Given the description of an element on the screen output the (x, y) to click on. 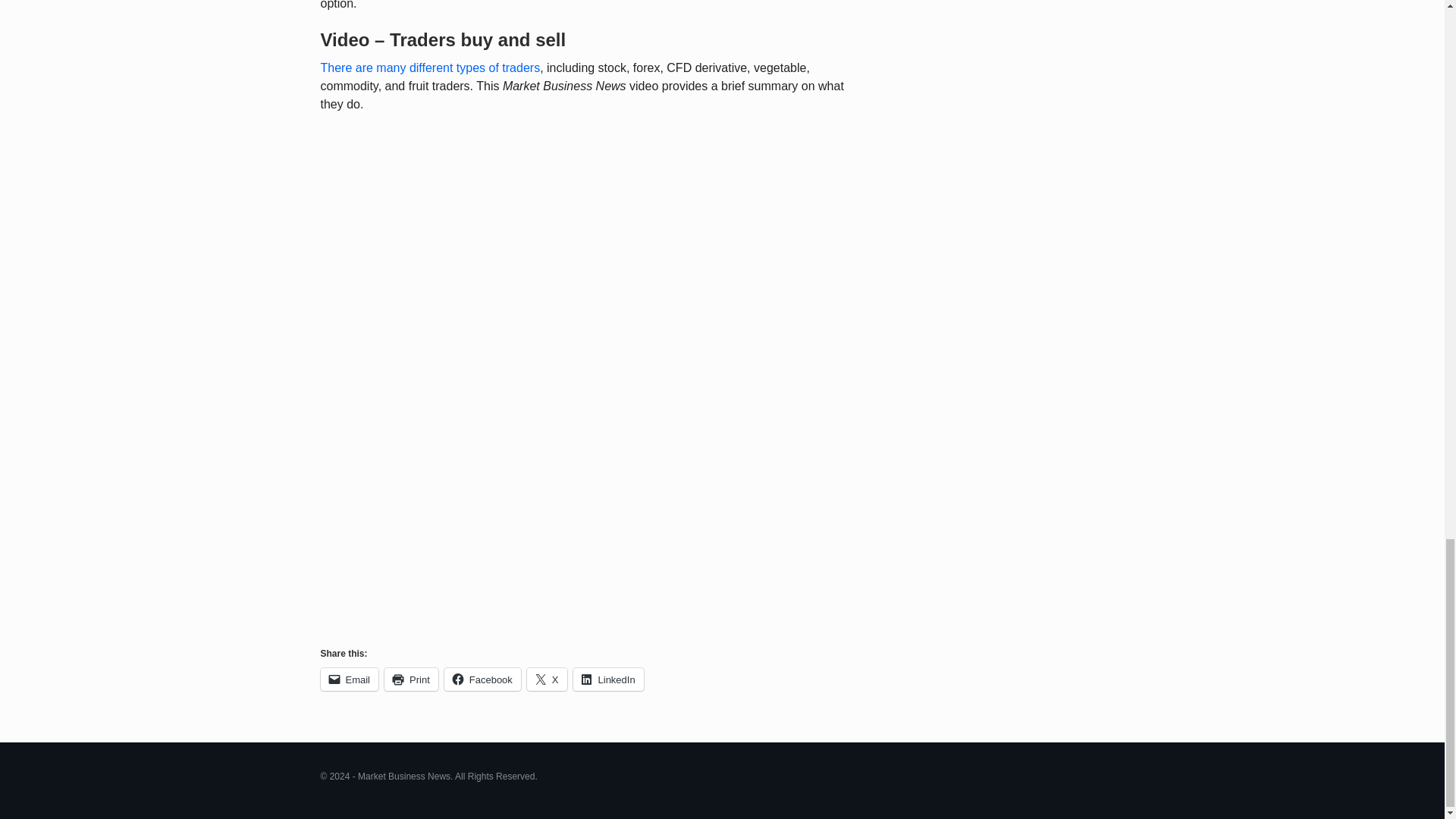
Print (411, 679)
Facebook (482, 679)
Click to print (411, 679)
There are many different types of traders (430, 67)
Click to share on LinkedIn (608, 679)
Email (349, 679)
Click to share on Facebook (482, 679)
LinkedIn (608, 679)
Click to share on X (547, 679)
X (547, 679)
Click to email a link to a friend (349, 679)
